Given the description of an element on the screen output the (x, y) to click on. 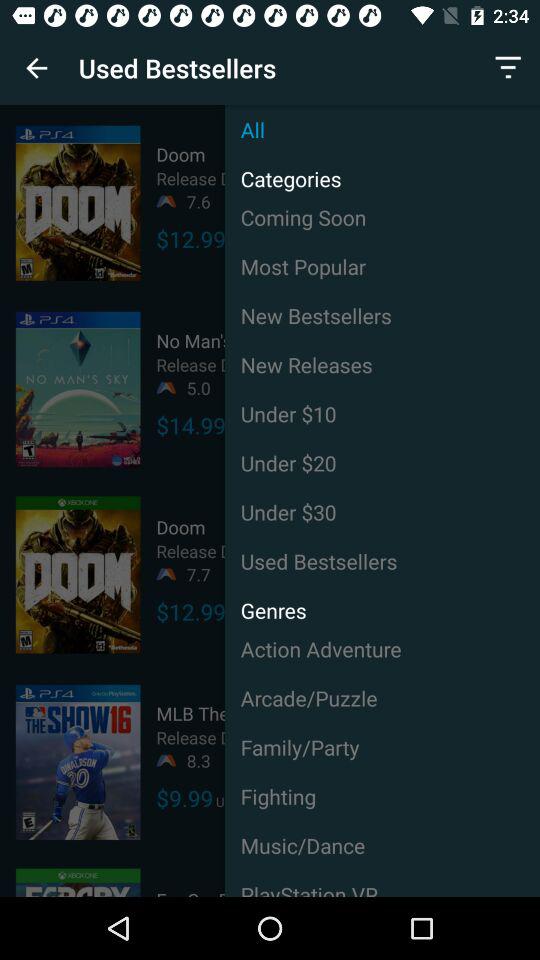
tap item below action adventure item (382, 698)
